Given the description of an element on the screen output the (x, y) to click on. 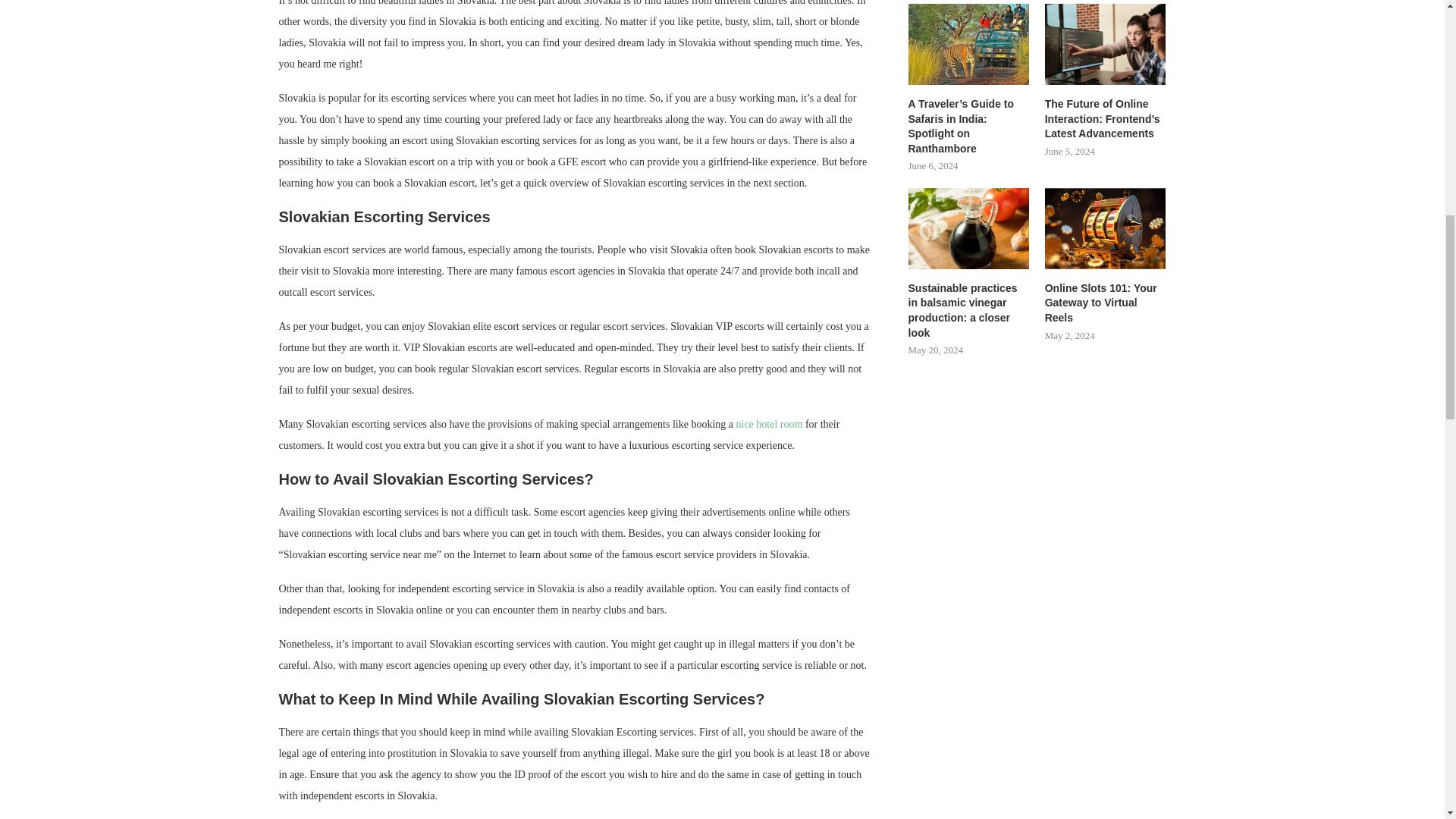
nice hotel room (769, 423)
